Given the description of an element on the screen output the (x, y) to click on. 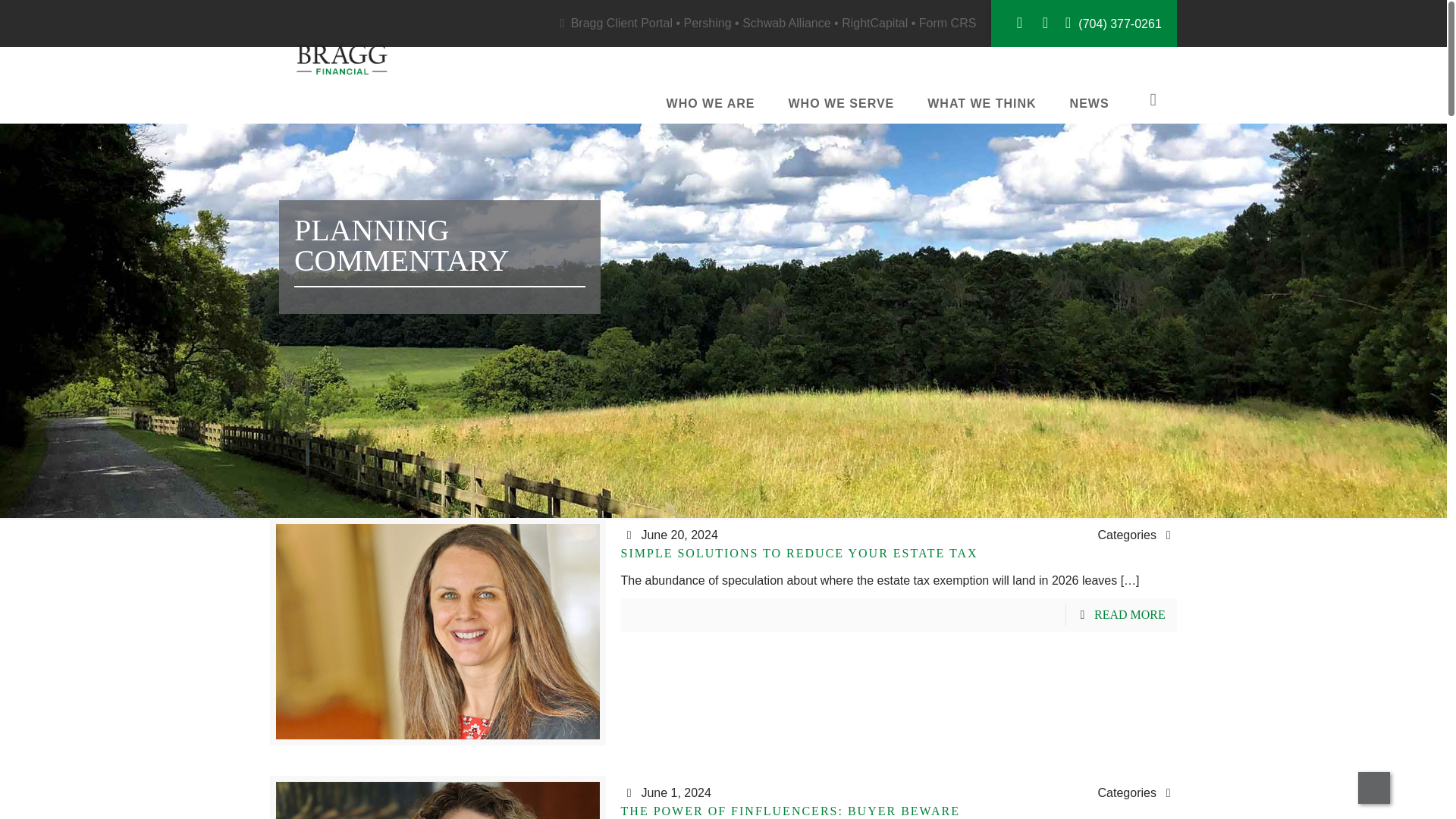
NEWS (1089, 103)
RightCapital (874, 22)
WHO WE SERVE (841, 103)
Bragg Financial (341, 58)
Form CRS (947, 22)
WHO WE ARE (710, 103)
Schwab Alliance (786, 22)
WHAT WE THINK (981, 103)
Pershing (706, 22)
Bragg Client Portal (621, 22)
